Given the description of an element on the screen output the (x, y) to click on. 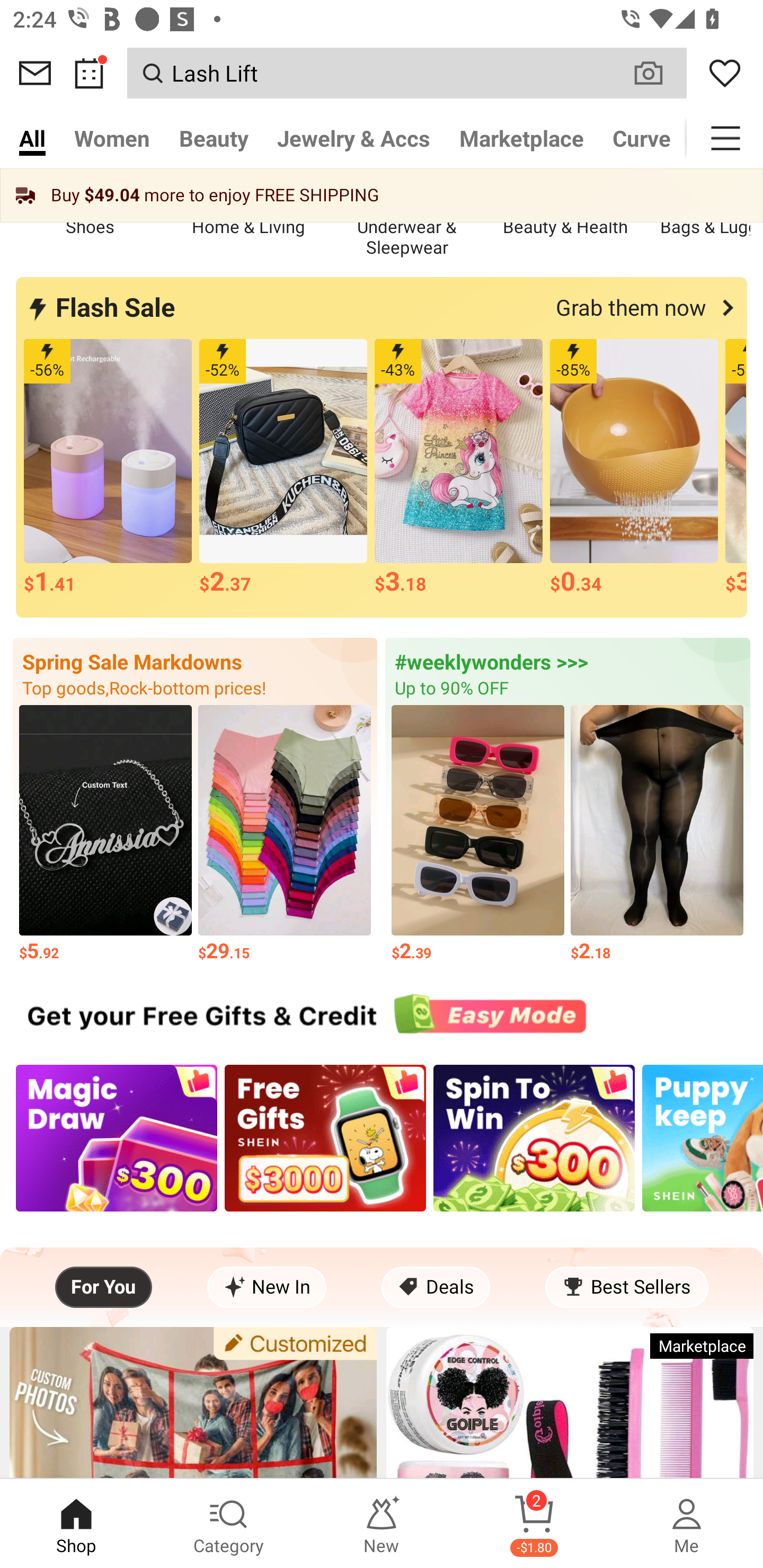
Wishlist (724, 72)
VISUAL SEARCH (657, 72)
All (31, 137)
Women (111, 137)
Beauty (213, 137)
Jewelry & Accs (353, 137)
Marketplace (521, 137)
Curve (641, 137)
Buy $49.04 more to enjoy FREE SHIPPING (381, 194)
$5.92 Price $5.92 (105, 834)
$29.15 Price $29.15 (284, 834)
$2.39 Price $2.39 (477, 834)
$2.18 Price $2.18 (656, 834)
New In (266, 1287)
Deals (435, 1287)
Best Sellers (626, 1287)
Category (228, 1523)
New (381, 1523)
Cart 2 -$1.80 (533, 1523)
Me (686, 1523)
